Given the description of an element on the screen output the (x, y) to click on. 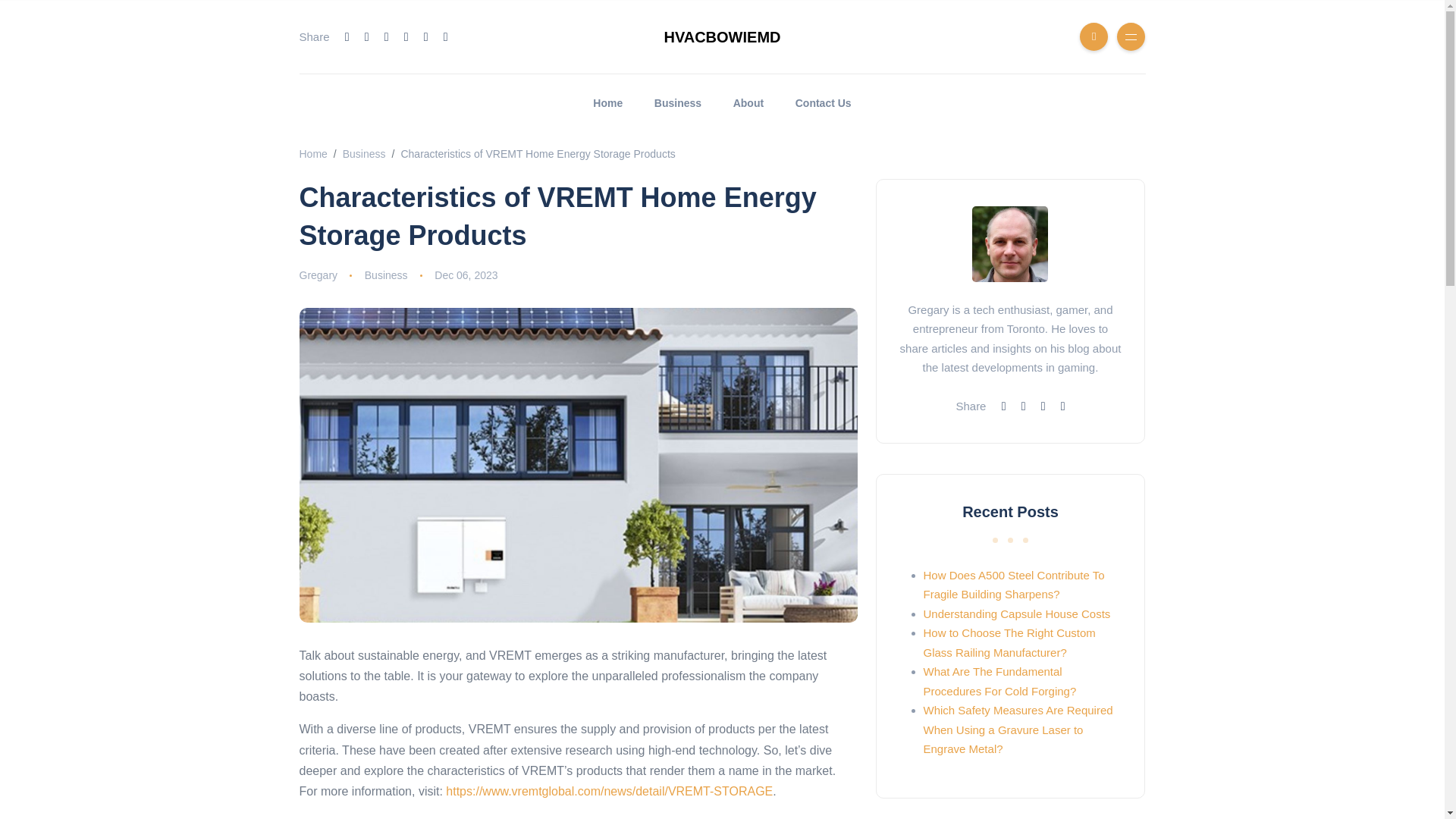
HVACBOWIEMD (721, 36)
Home (608, 103)
How Does A500 Steel Contribute To Fragile Building Sharpens? (1014, 584)
Gregary (317, 275)
Contact Us (822, 103)
Hvacbowiemd (312, 153)
Home (608, 103)
Business (678, 103)
About (747, 103)
